Given the description of an element on the screen output the (x, y) to click on. 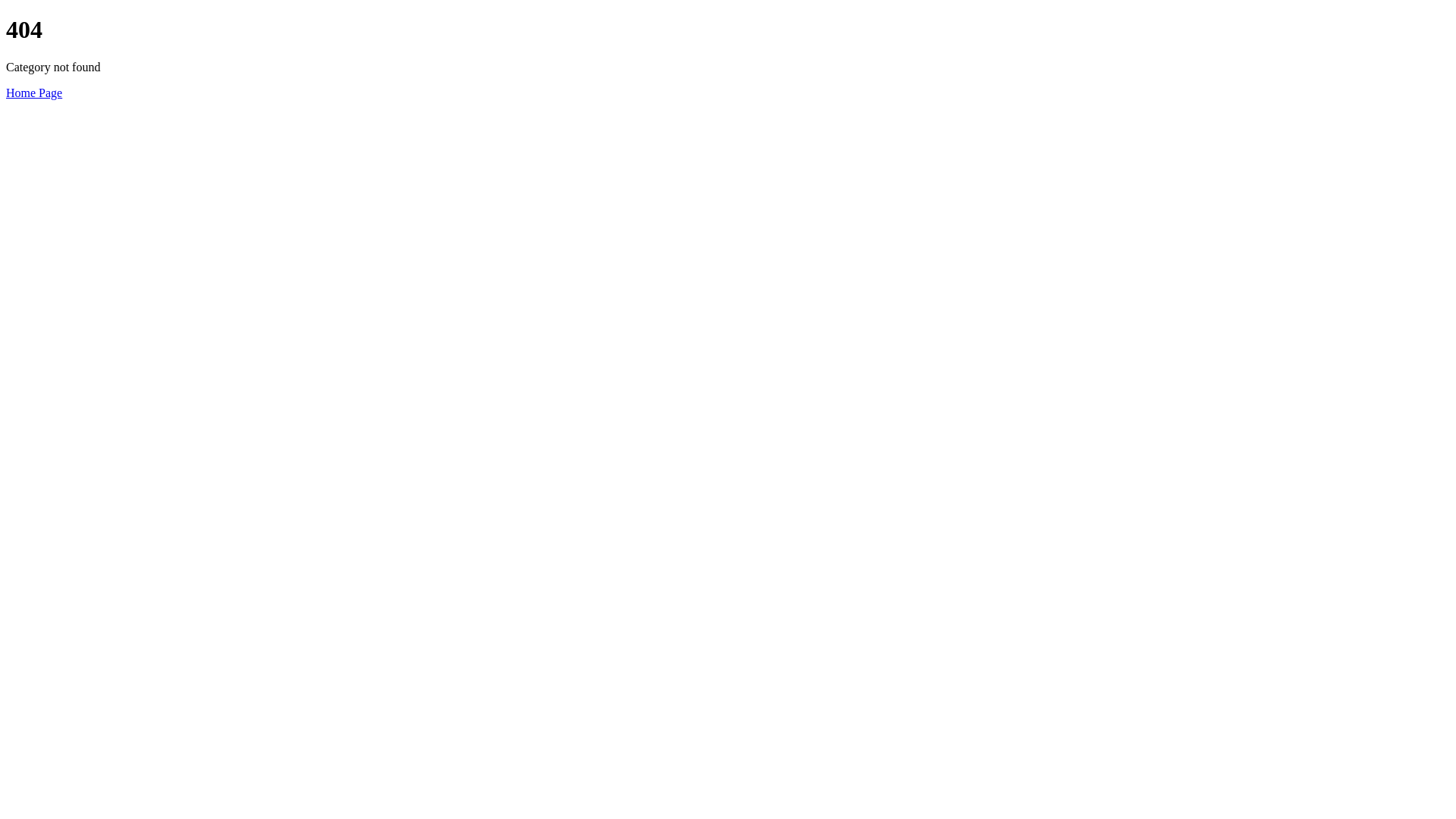
Home Page Element type: text (34, 92)
